Given the description of an element on the screen output the (x, y) to click on. 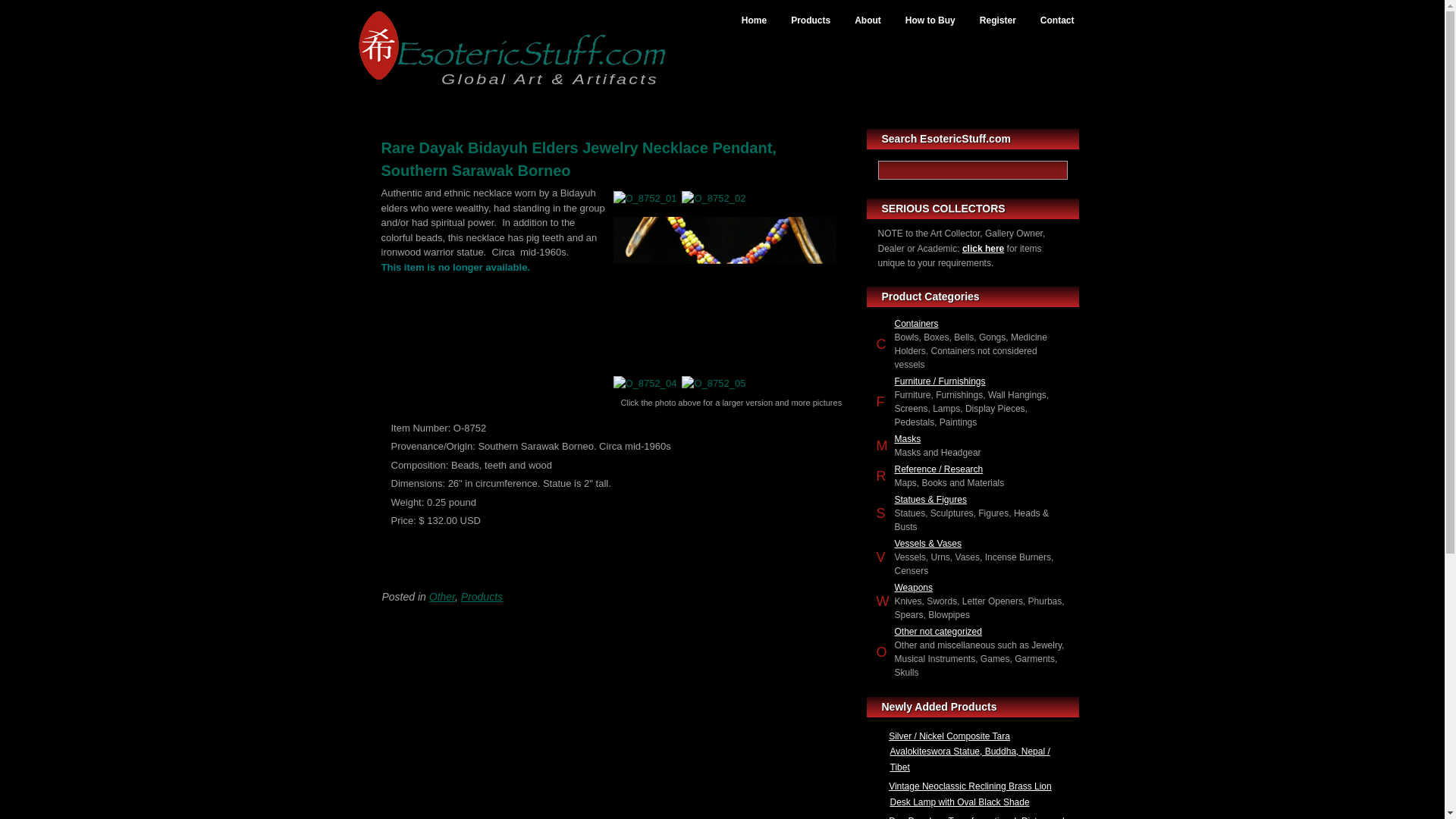
Register (997, 21)
Products (810, 21)
click here (983, 247)
Weapons (914, 587)
About (867, 21)
Home (753, 21)
Other not categorized (938, 631)
About (867, 21)
Home (753, 21)
Contact (1056, 21)
How to Buy (930, 21)
Masks (908, 439)
Containers (917, 323)
Register (997, 21)
